Given the description of an element on the screen output the (x, y) to click on. 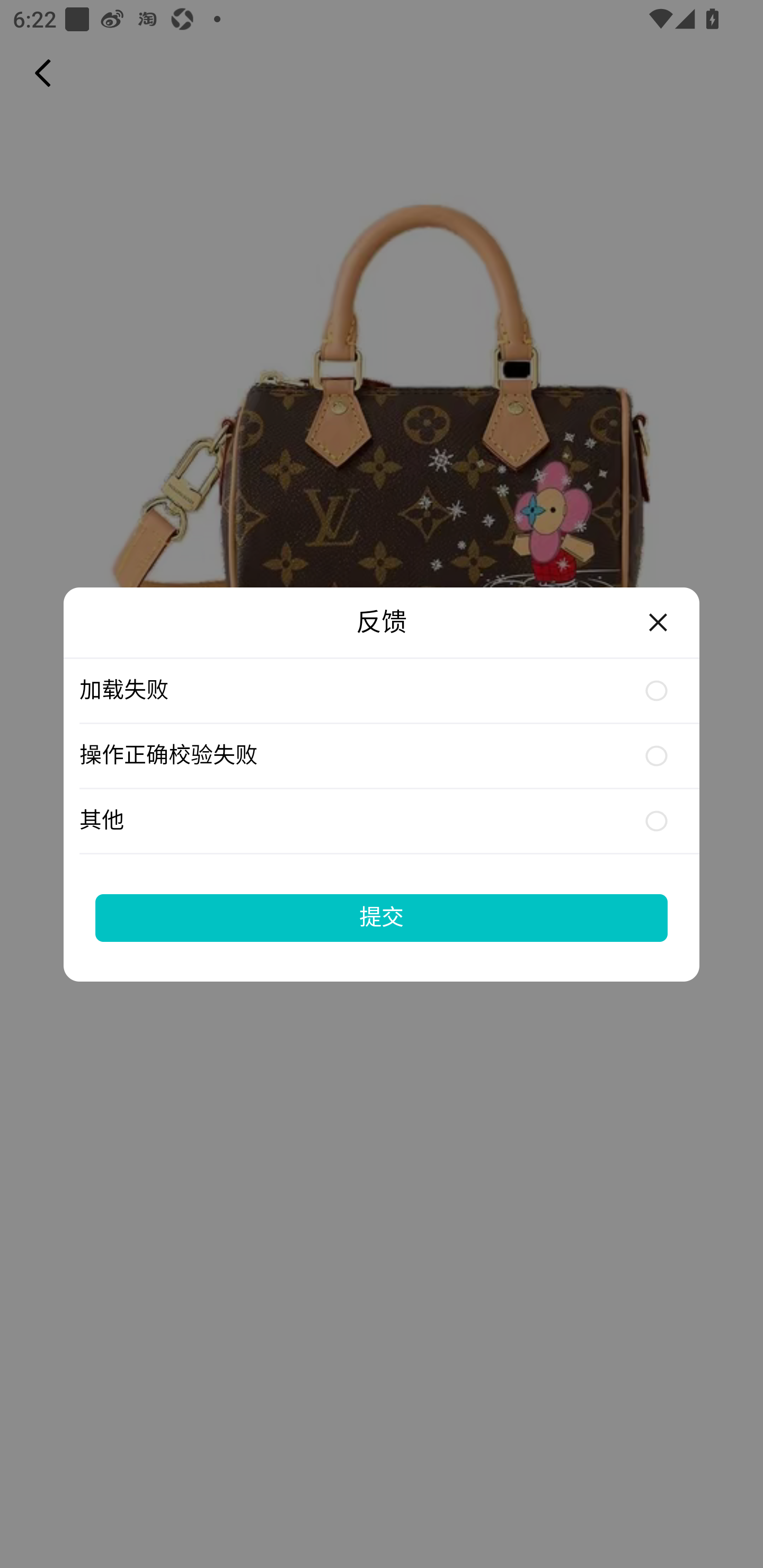
提交 (381, 917)
